Given the description of an element on the screen output the (x, y) to click on. 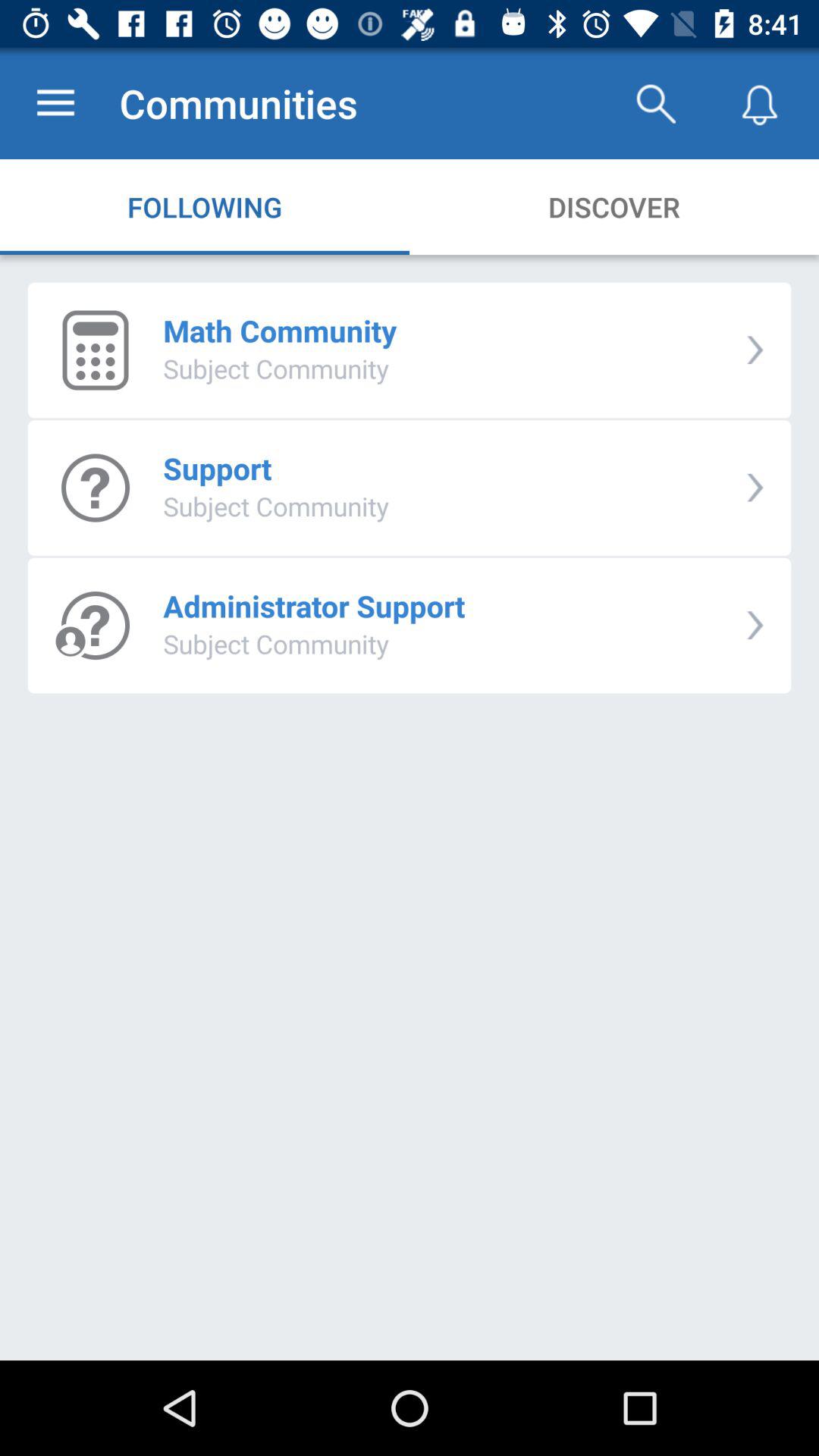
click app next to communities app (55, 103)
